Given the description of an element on the screen output the (x, y) to click on. 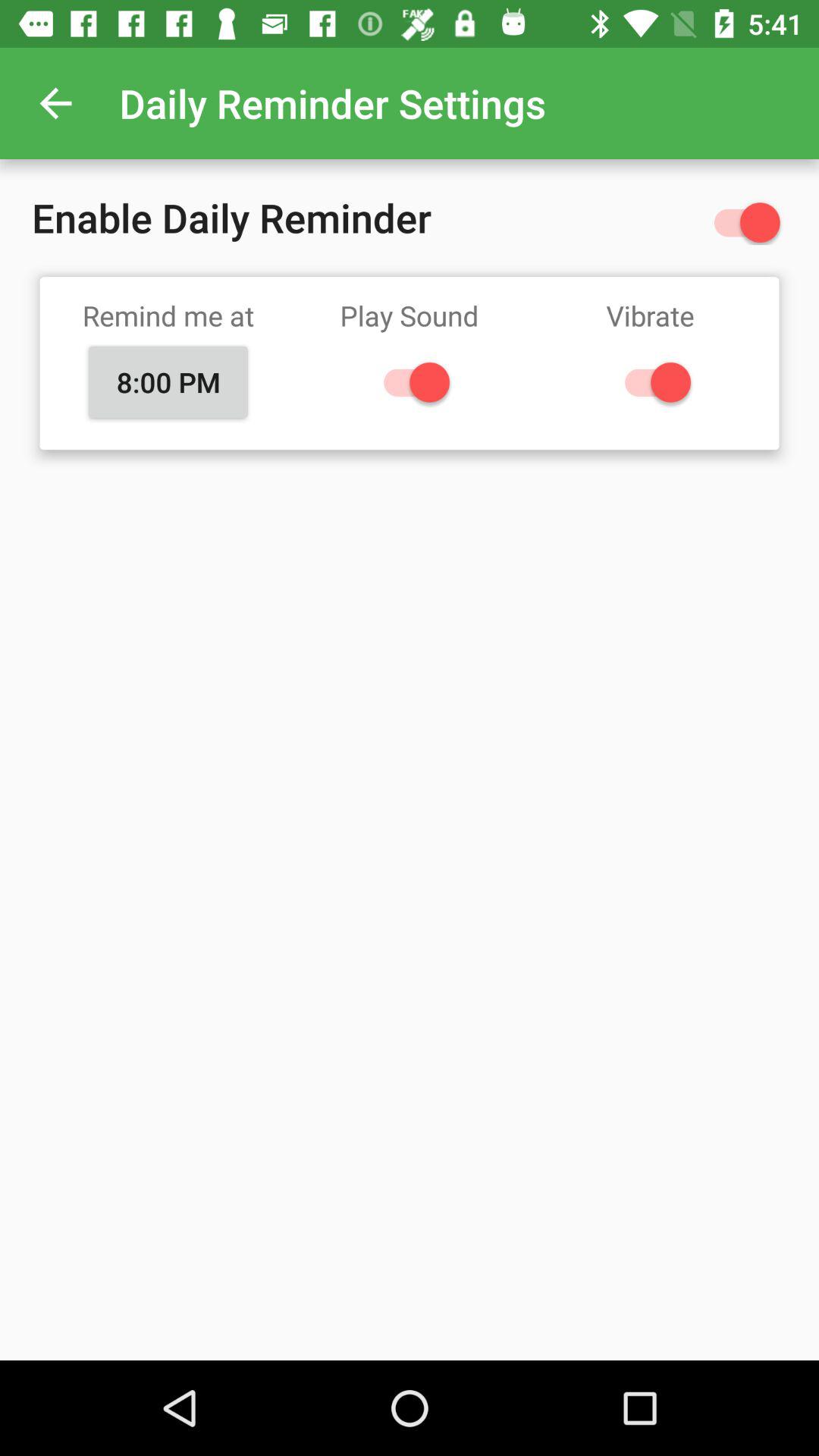
press 8:00 pm icon (167, 381)
